Given the description of an element on the screen output the (x, y) to click on. 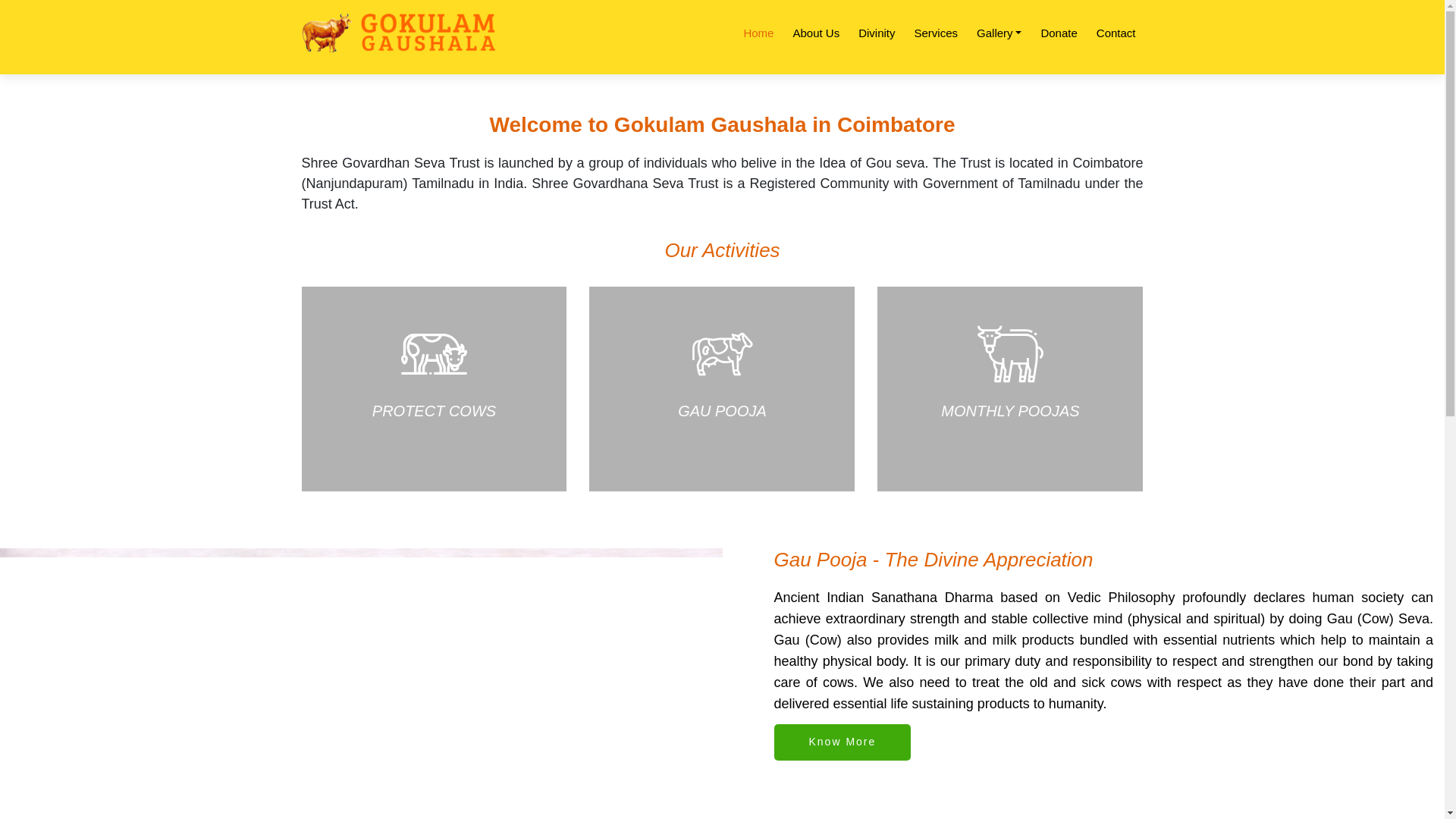
Contact (1115, 33)
Divinity (877, 33)
Know More (842, 741)
Services (936, 33)
Donate (1059, 33)
Gallery (999, 33)
About Us (816, 33)
Home (757, 33)
